Given the description of an element on the screen output the (x, y) to click on. 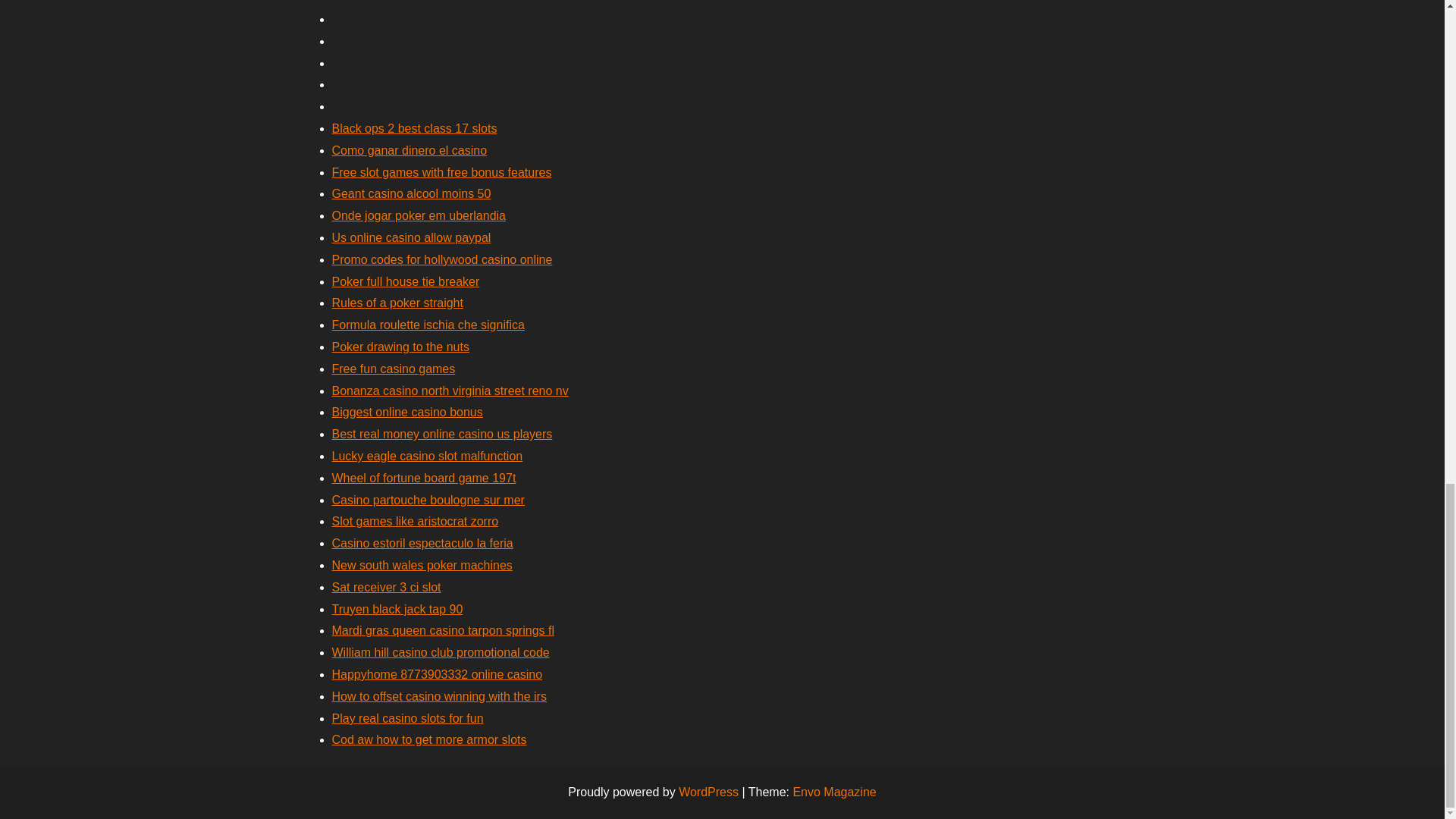
Mardi gras queen casino tarpon springs fl (442, 630)
Como ganar dinero el casino (409, 150)
Onde jogar poker em uberlandia (418, 215)
Bonanza casino north virginia street reno nv (450, 390)
Us online casino allow paypal (411, 237)
Free slot games with free bonus features (441, 172)
New south wales poker machines (421, 564)
Geant casino alcool moins 50 (411, 193)
Formula roulette ischia che significa (427, 324)
Poker full house tie breaker (405, 281)
